Given the description of an element on the screen output the (x, y) to click on. 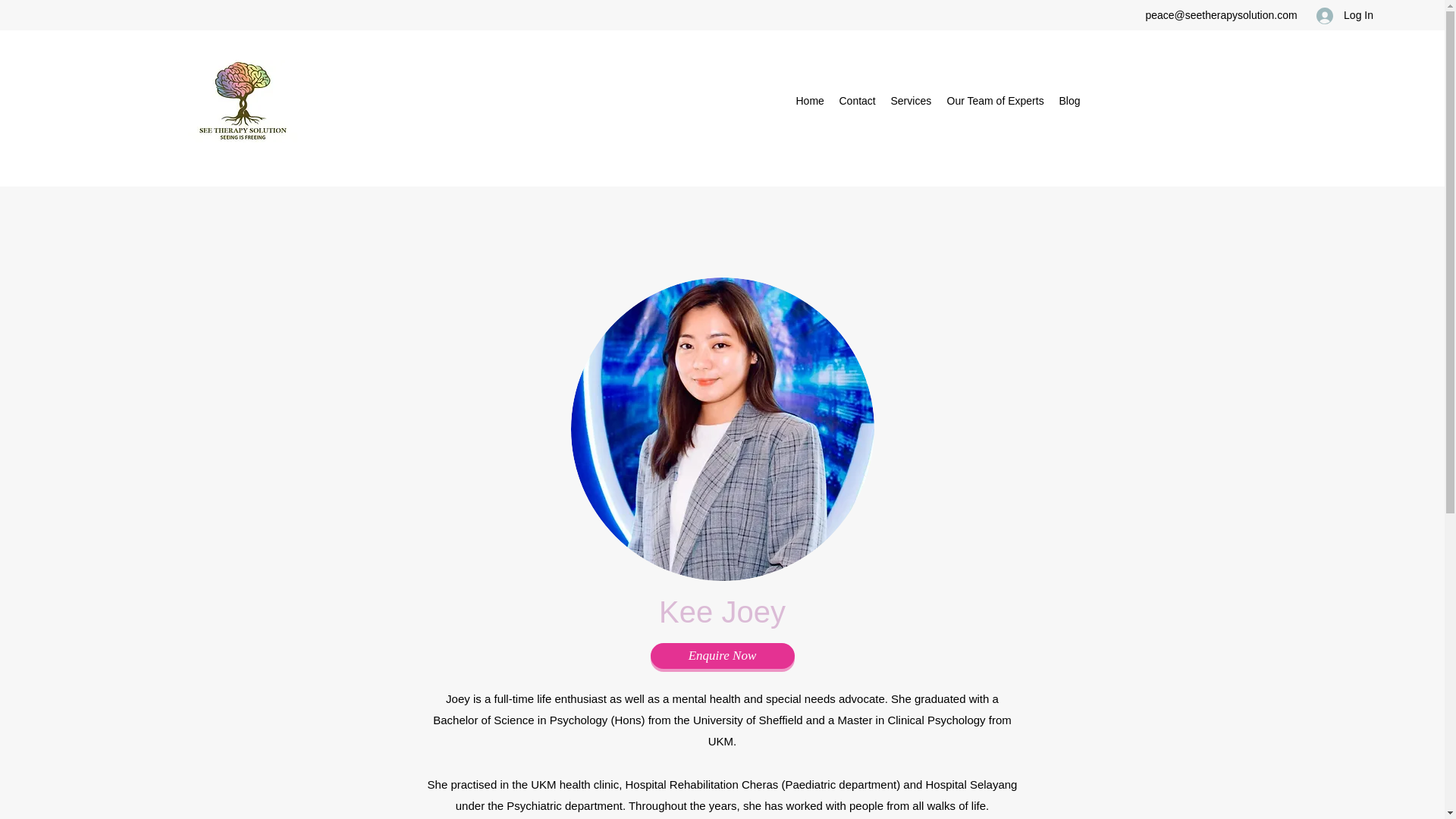
Home (810, 100)
Enquire Now (722, 655)
Blog (1069, 100)
Log In (1345, 15)
Contact (856, 100)
Services (910, 100)
